Given the description of an element on the screen output the (x, y) to click on. 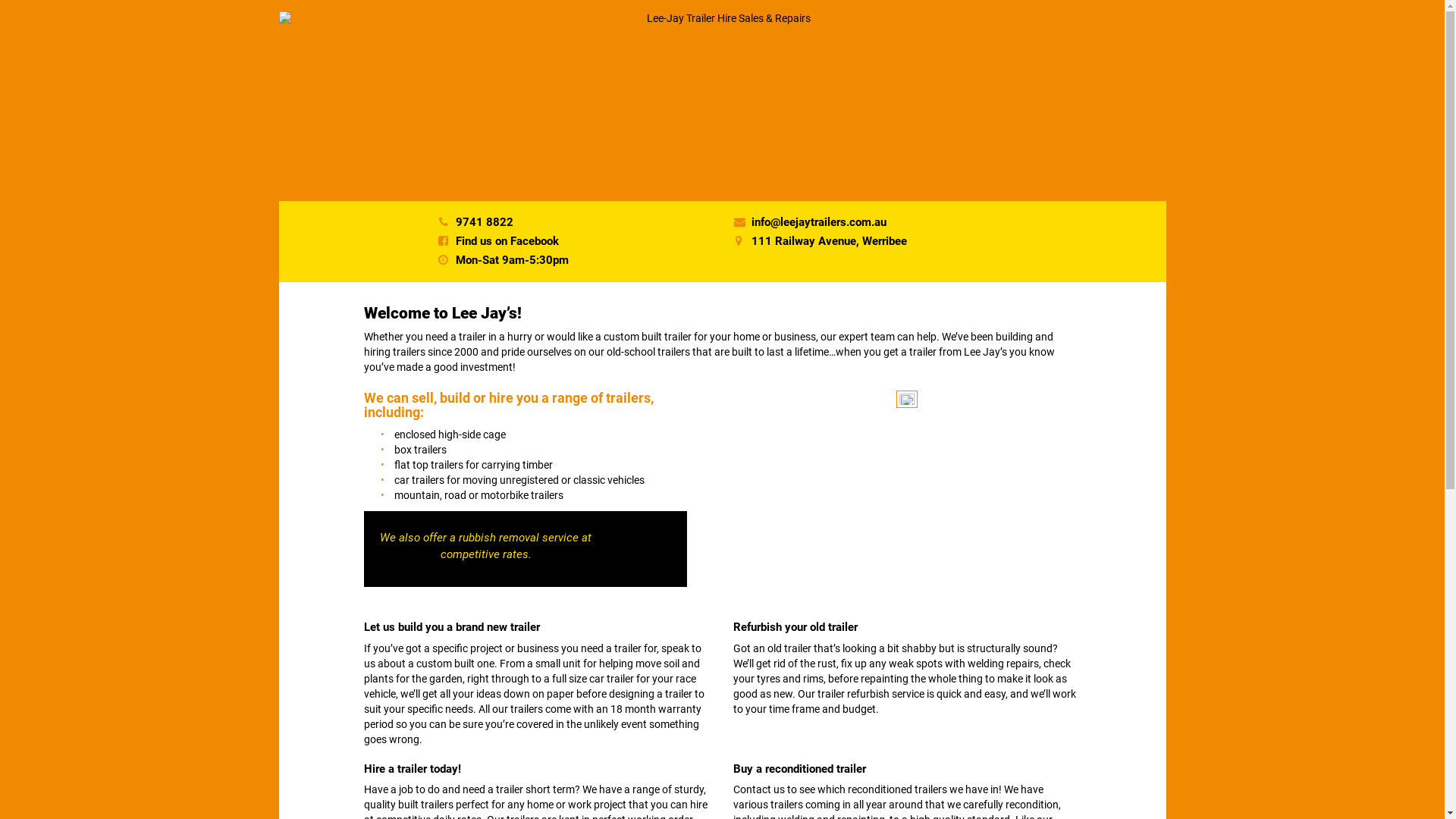
111 Railway Avenue, Werribee Element type: text (828, 240)
Find us on Facebook Element type: text (506, 240)
info@leejaytrailers.com.au Element type: text (818, 222)
9741 8822 Element type: text (484, 222)
